Given the description of an element on the screen output the (x, y) to click on. 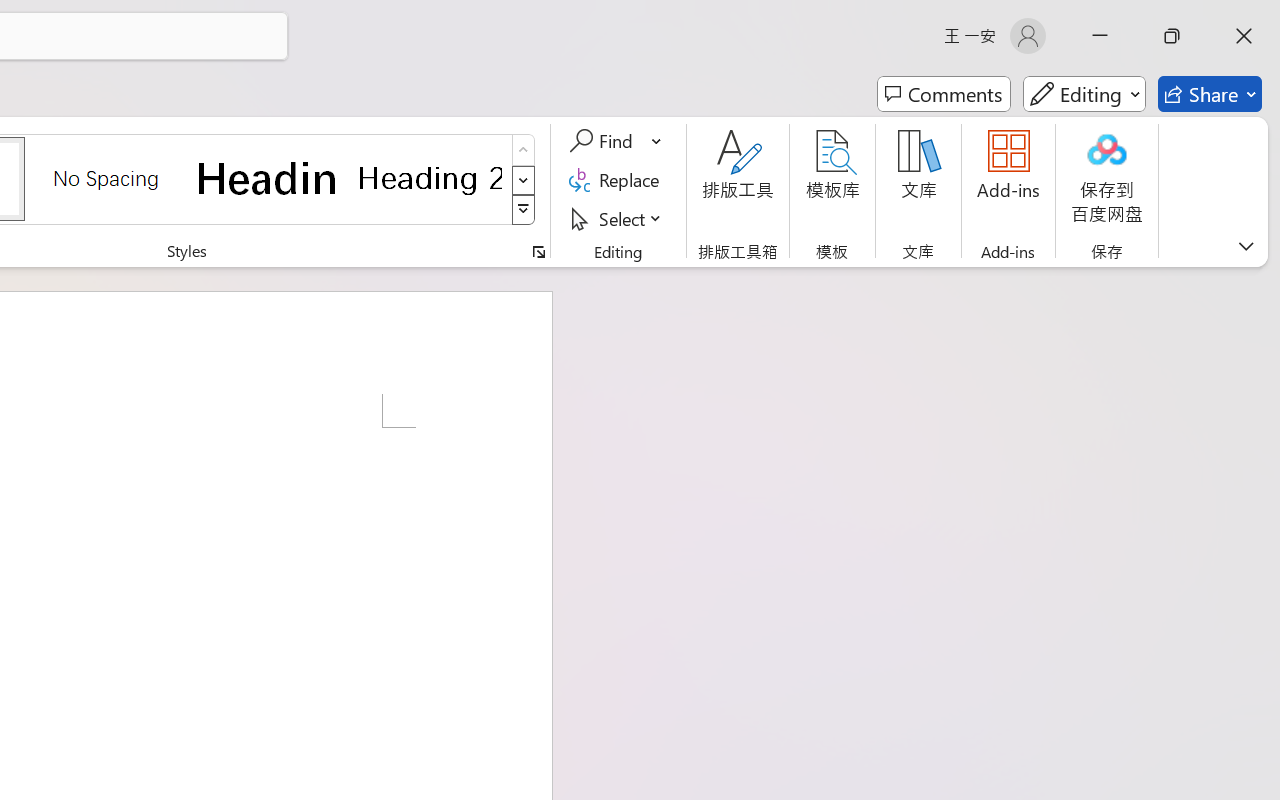
Row up (523, 150)
Row Down (523, 180)
Styles (523, 209)
Replace... (617, 179)
Heading 2 (429, 178)
